Given the description of an element on the screen output the (x, y) to click on. 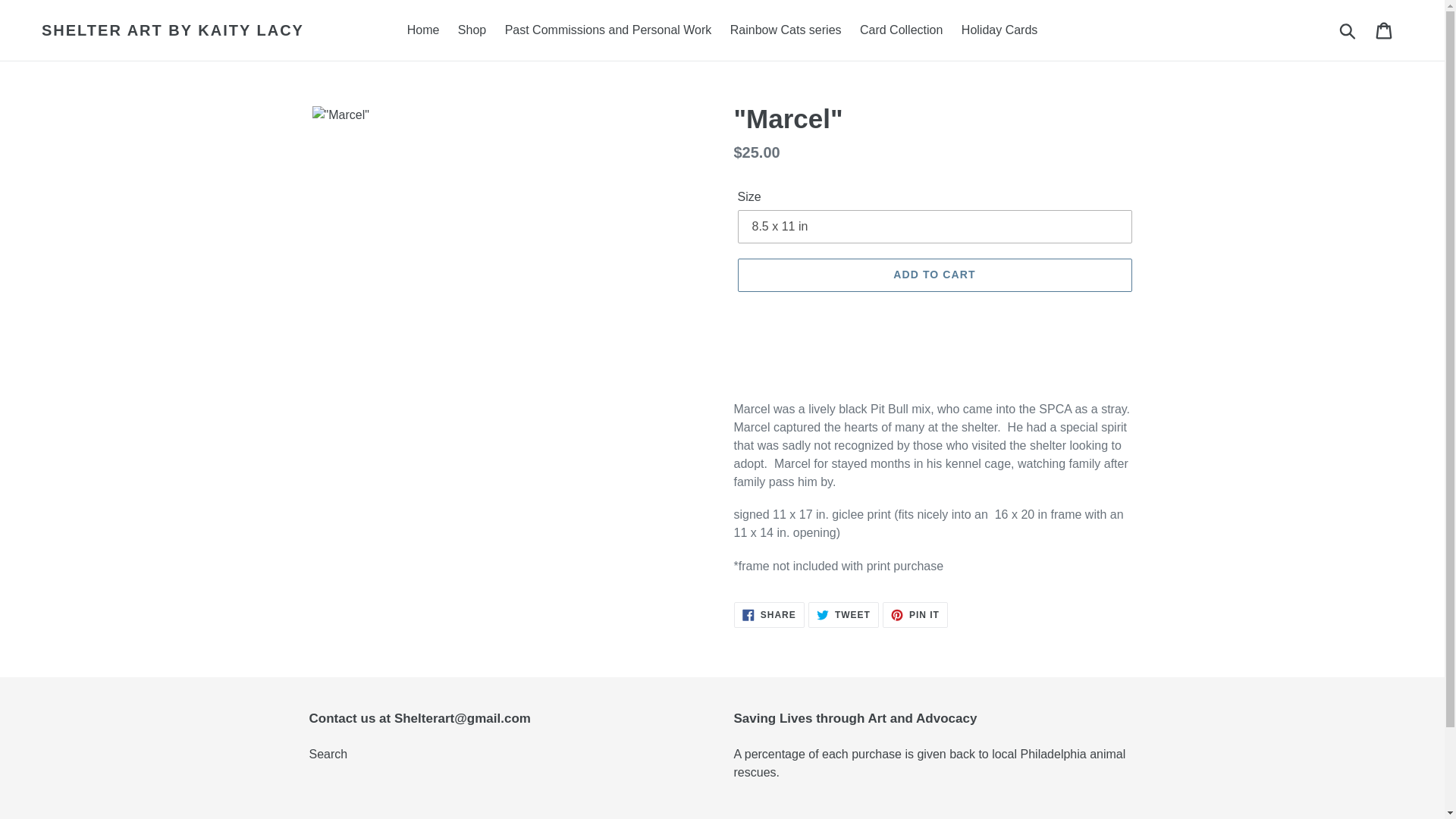
Submit (1348, 29)
Home (422, 29)
Card Collection (900, 29)
SHELTER ART BY KAITY LACY (843, 614)
Cart (769, 614)
Shop (173, 30)
Rainbow Cats series (1385, 29)
Past Commissions and Personal Work (471, 29)
